Given the description of an element on the screen output the (x, y) to click on. 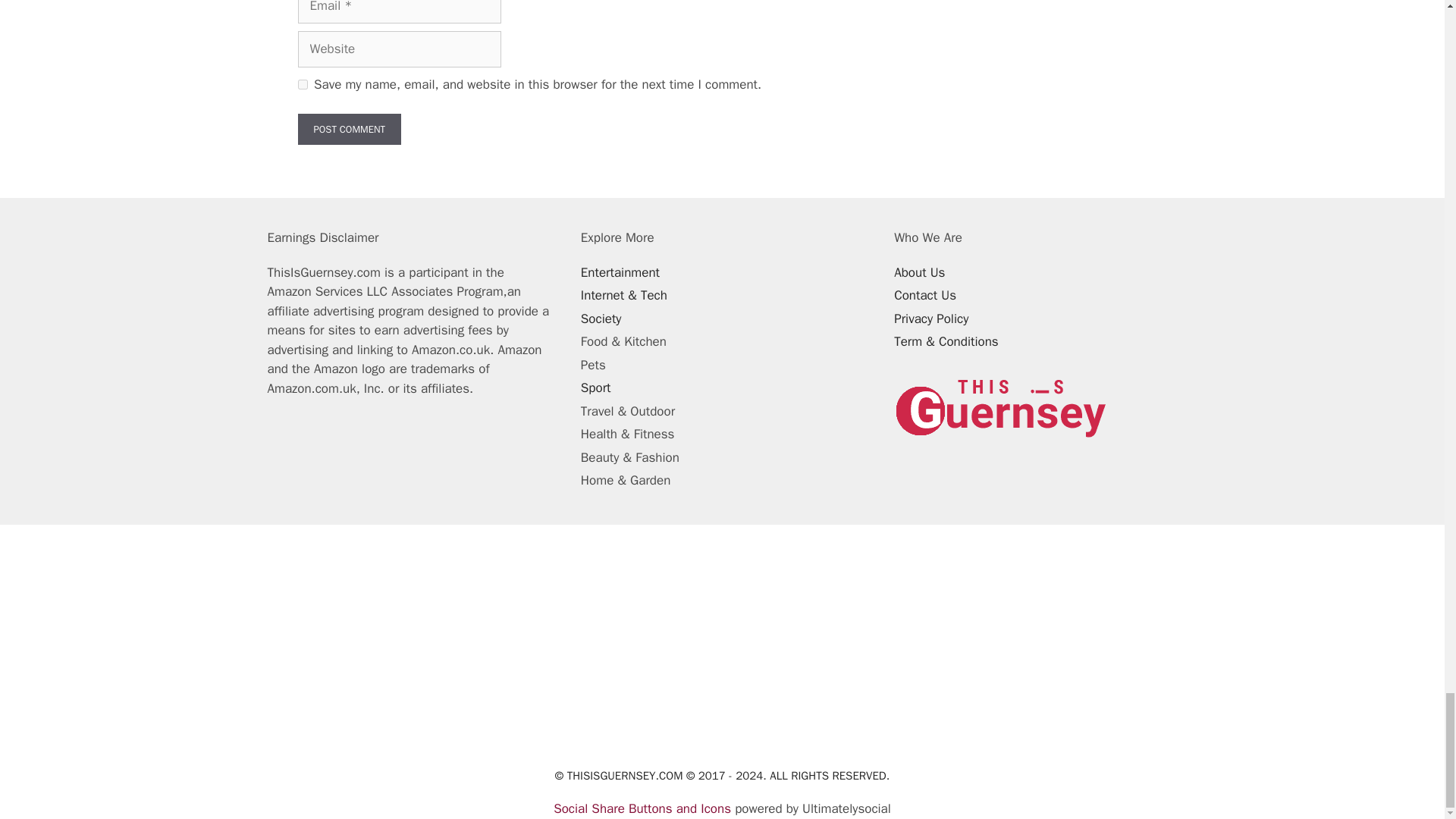
yes (302, 84)
Post Comment (349, 129)
